Given the description of an element on the screen output the (x, y) to click on. 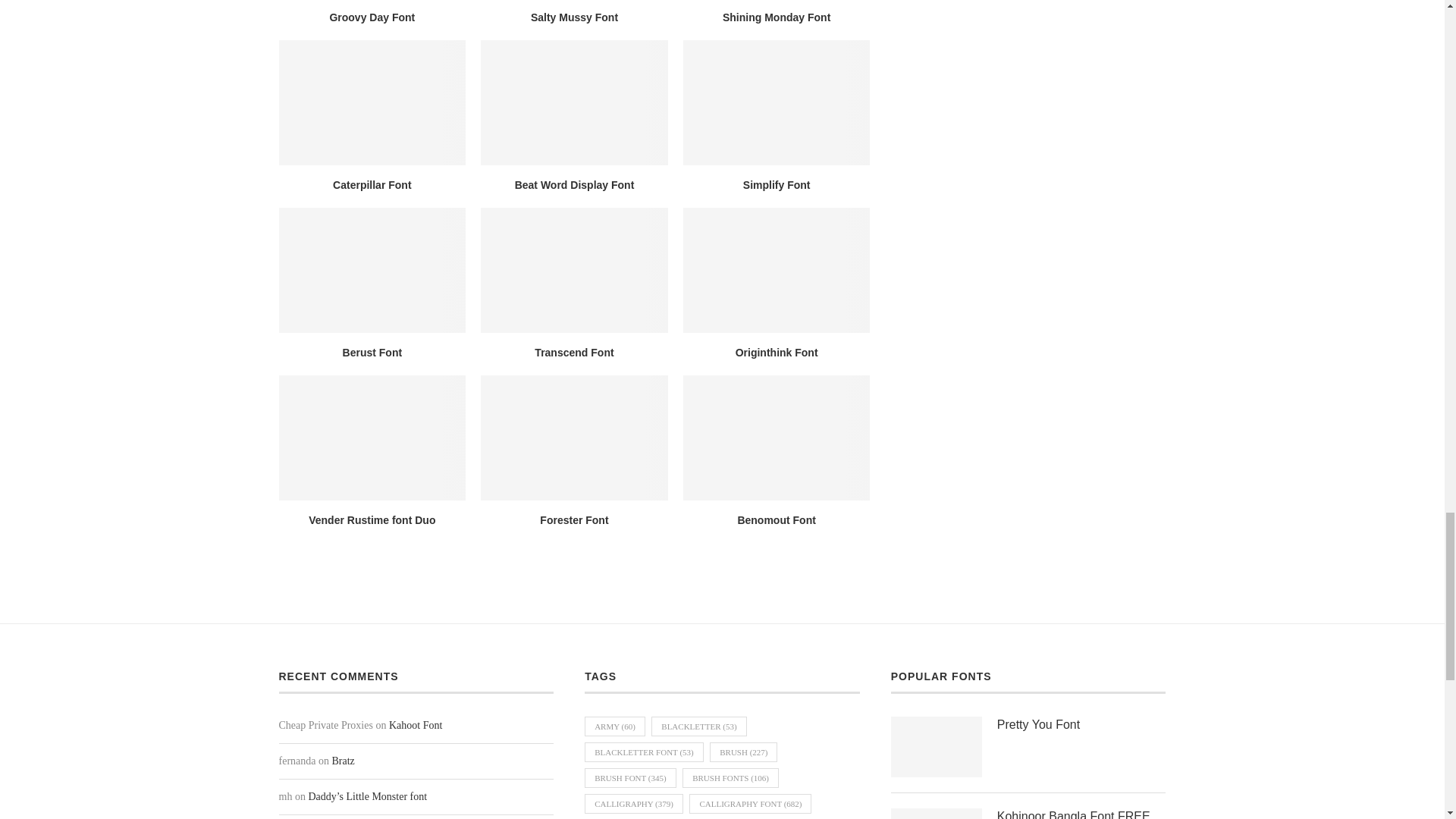
Simplify Font (776, 102)
Caterpillar Font (372, 102)
Beat Word Display Font (574, 102)
Berust Font (372, 270)
Transcend Font (574, 270)
